Given the description of an element on the screen output the (x, y) to click on. 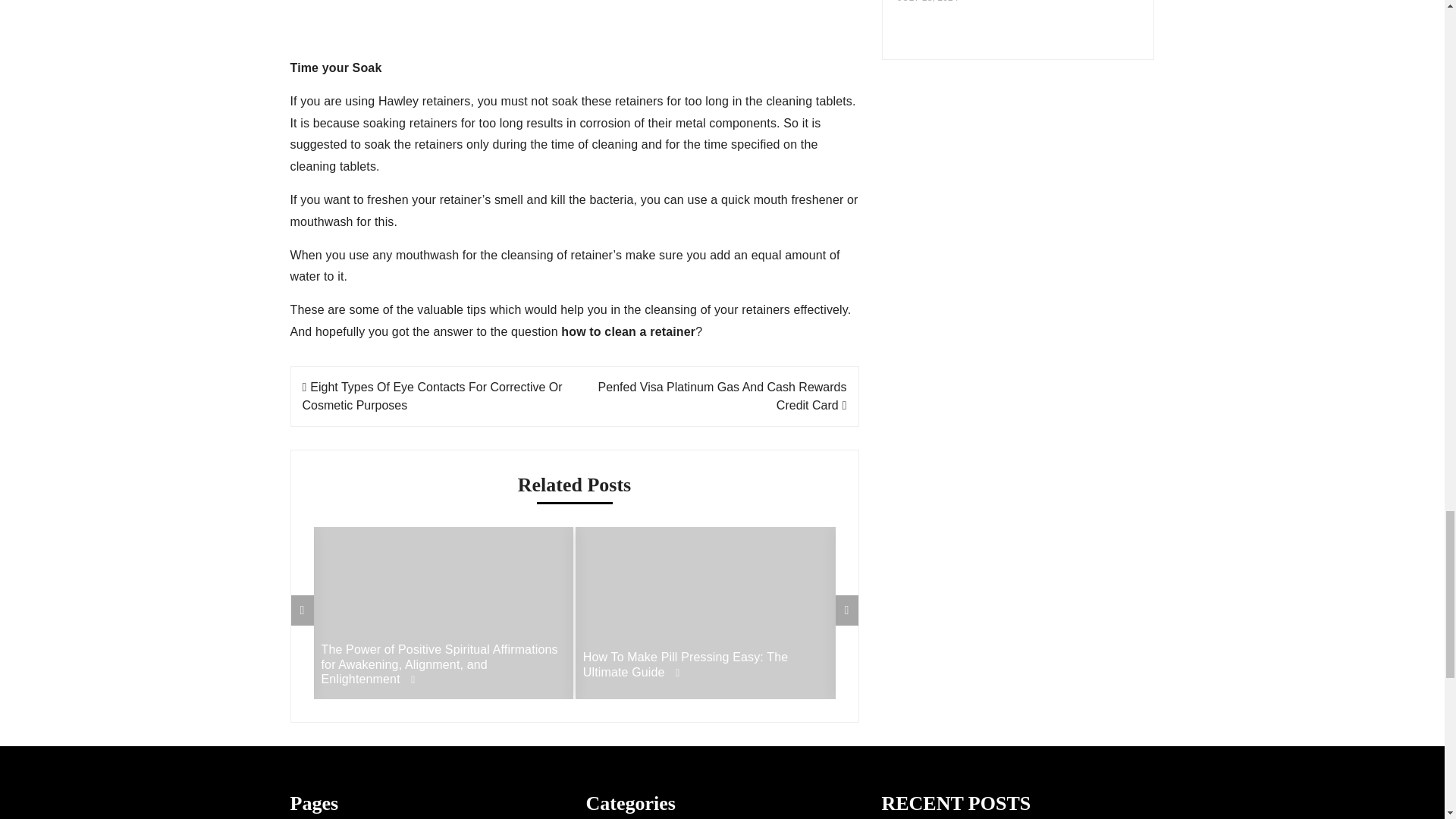
Penfed Visa Platinum Gas And Cash Rewards Credit Card (722, 395)
How To Make Pill Pressing Easy: The Ultimate Guide (705, 664)
